Given the description of an element on the screen output the (x, y) to click on. 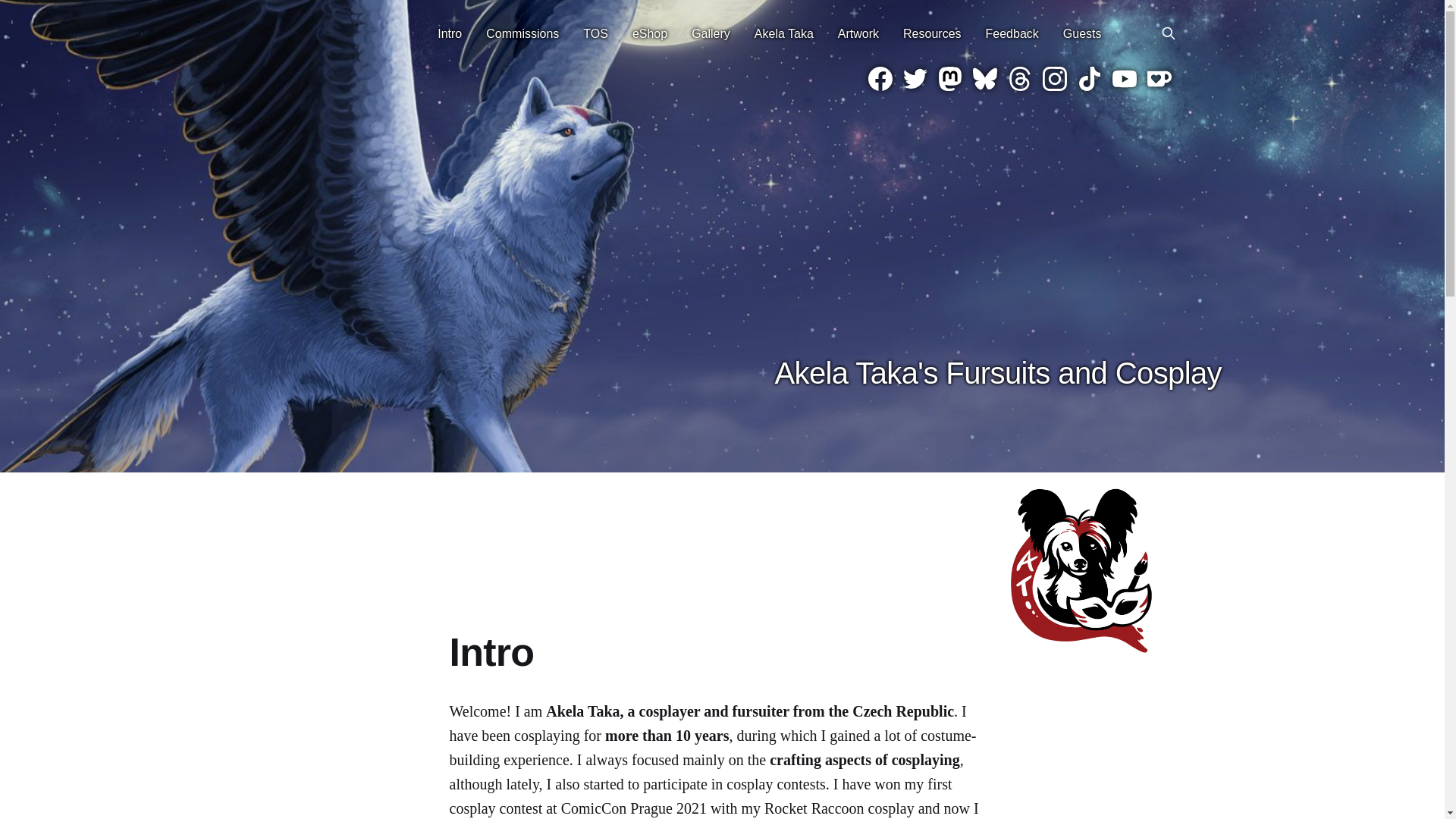
ko-fi (1158, 78)
YouTube (1123, 78)
Tiktok (1088, 78)
Twitter (914, 78)
Feedback (1012, 33)
Akela Taka (783, 33)
Intro (449, 33)
Instagram (1053, 78)
Commissions (522, 33)
eShop (648, 33)
Ko-fi (1158, 78)
Resources (931, 33)
Threads (1018, 78)
Artwork (858, 33)
TOS (595, 33)
